Given the description of an element on the screen output the (x, y) to click on. 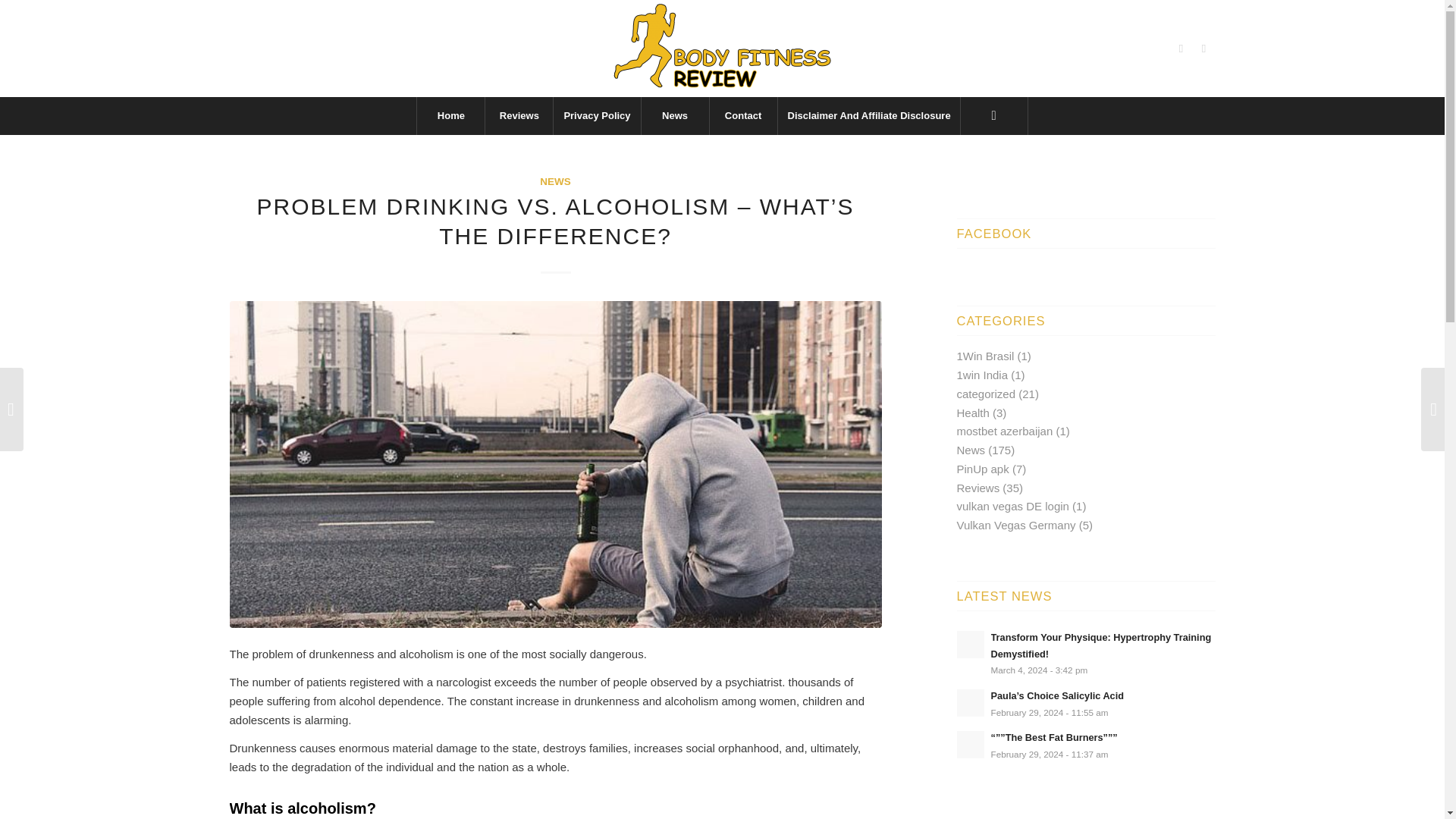
Transform Your Physique: Hypertrophy Training Demystified! (1100, 645)
1win India (982, 374)
NEWS (555, 181)
Reviews (518, 116)
Vulkan Vegas Germany (1015, 524)
vulkan vegas DE login (1012, 505)
News (674, 116)
mostbet azerbaijan (1004, 431)
categorized (986, 393)
